Given the description of an element on the screen output the (x, y) to click on. 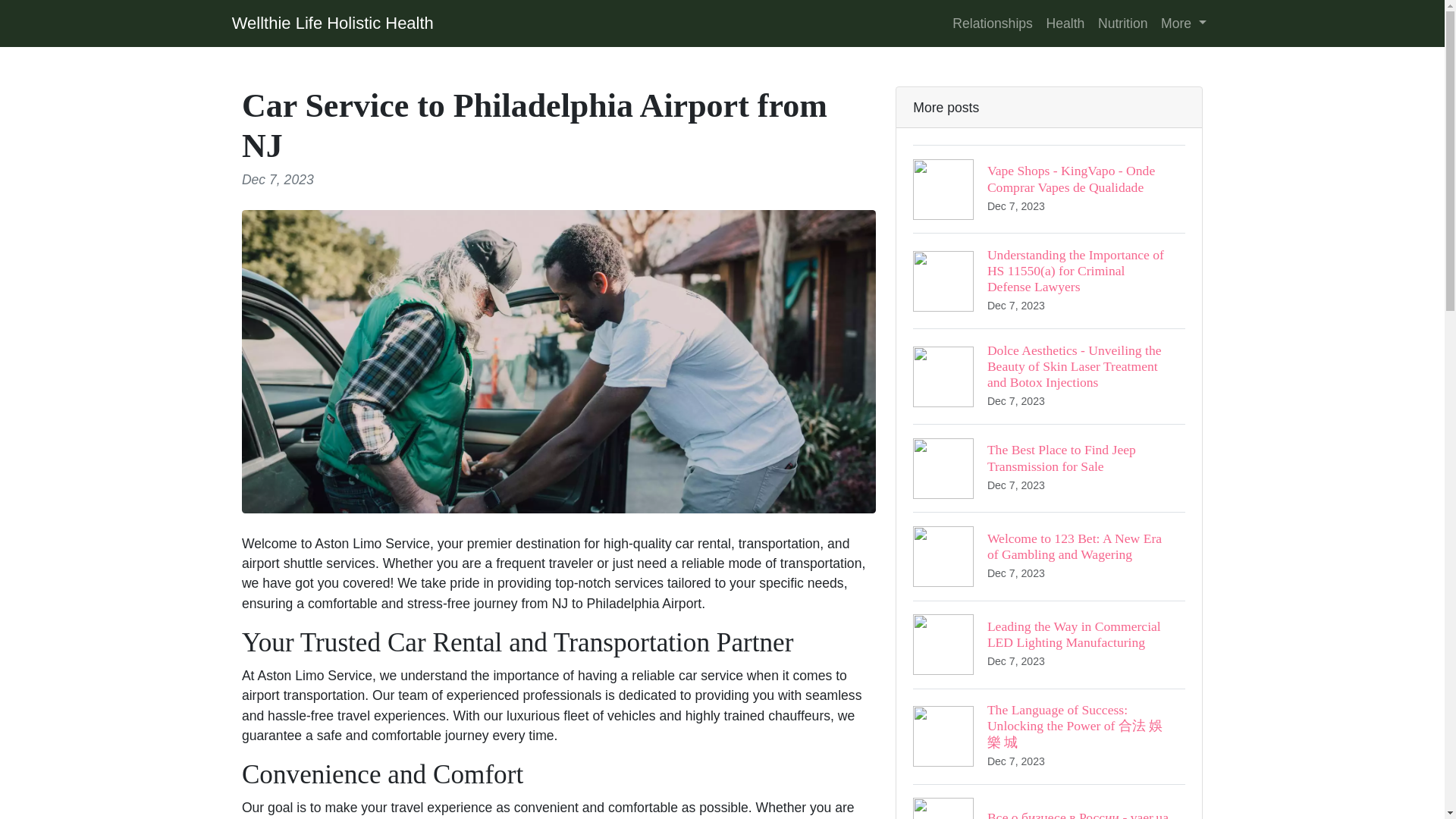
Nutrition (1122, 23)
Health (1064, 23)
Wellthie Life Holistic Health (332, 23)
Relationships (991, 23)
More (1183, 23)
